Given the description of an element on the screen output the (x, y) to click on. 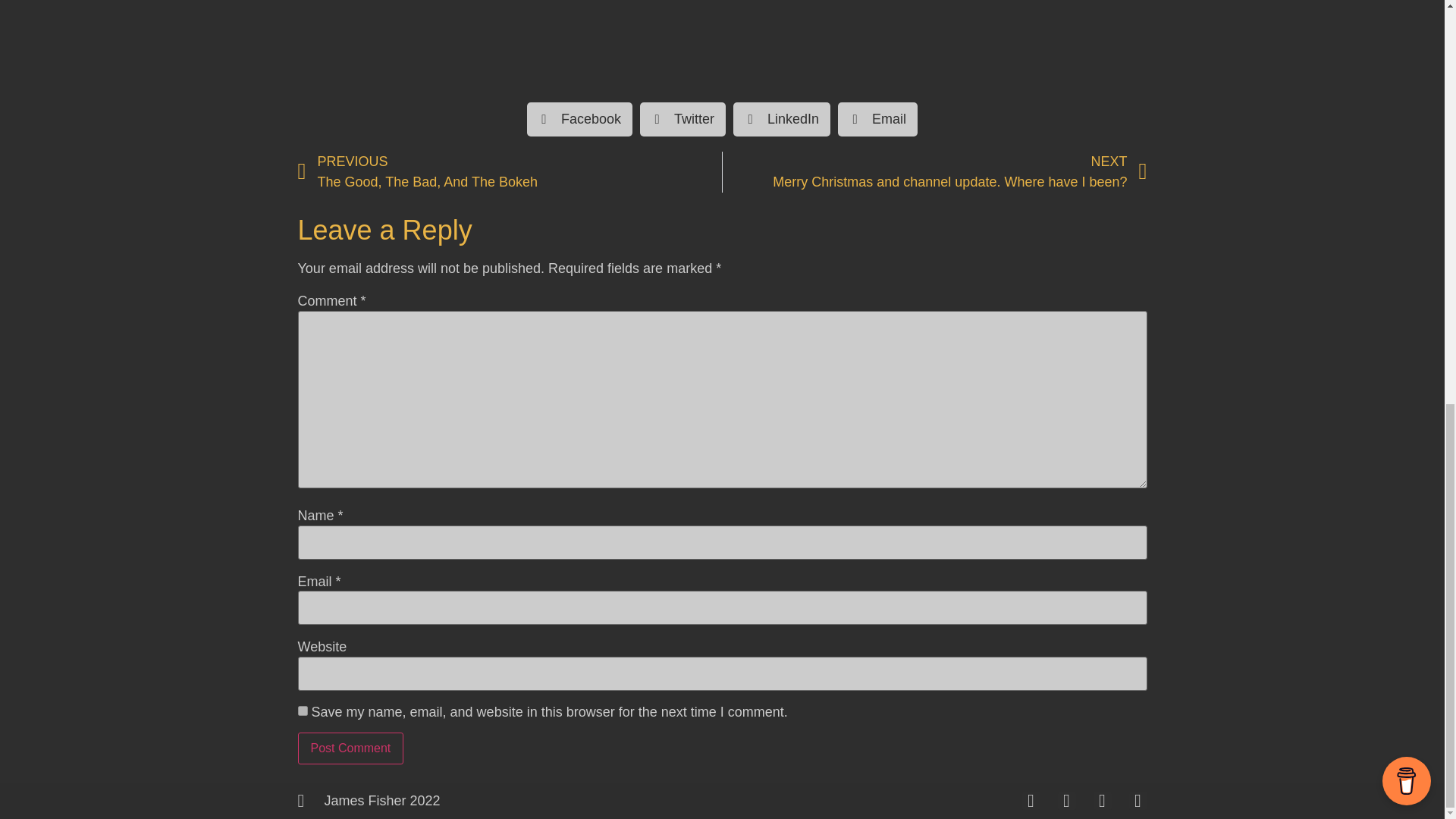
Post Comment (350, 748)
yes (302, 710)
Post Comment (350, 748)
James Fisher 2022 (509, 171)
